Given the description of an element on the screen output the (x, y) to click on. 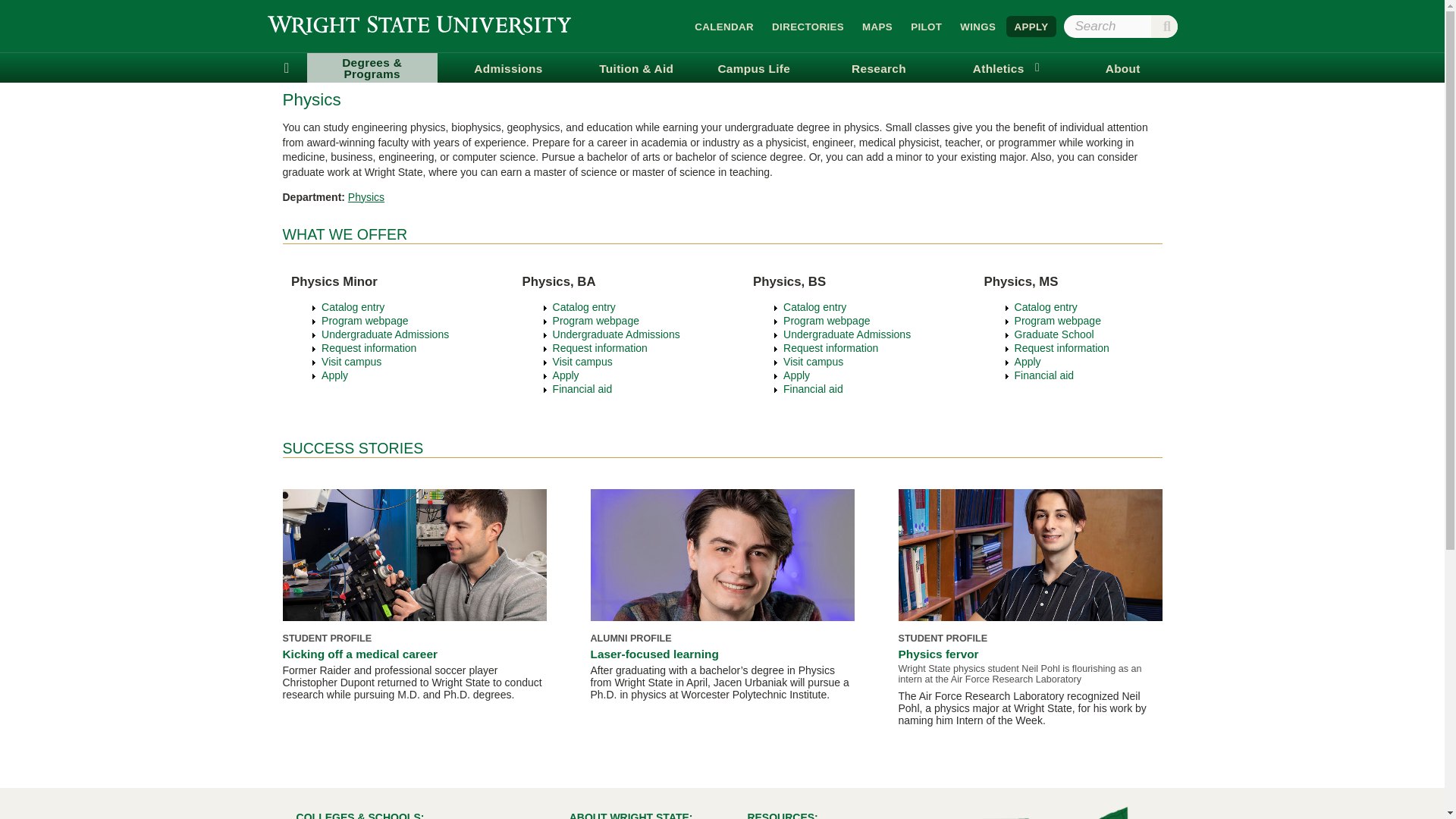
Catalog entry (814, 306)
APPLY (1030, 25)
Program webpage (364, 320)
DIRECTORIES (807, 25)
Search (1164, 26)
Program webpage (596, 320)
Catalog entry (584, 306)
Enter the terms you wish to search for. (1119, 26)
Research (877, 67)
Go to Wright State University home page (418, 23)
